Given the description of an element on the screen output the (x, y) to click on. 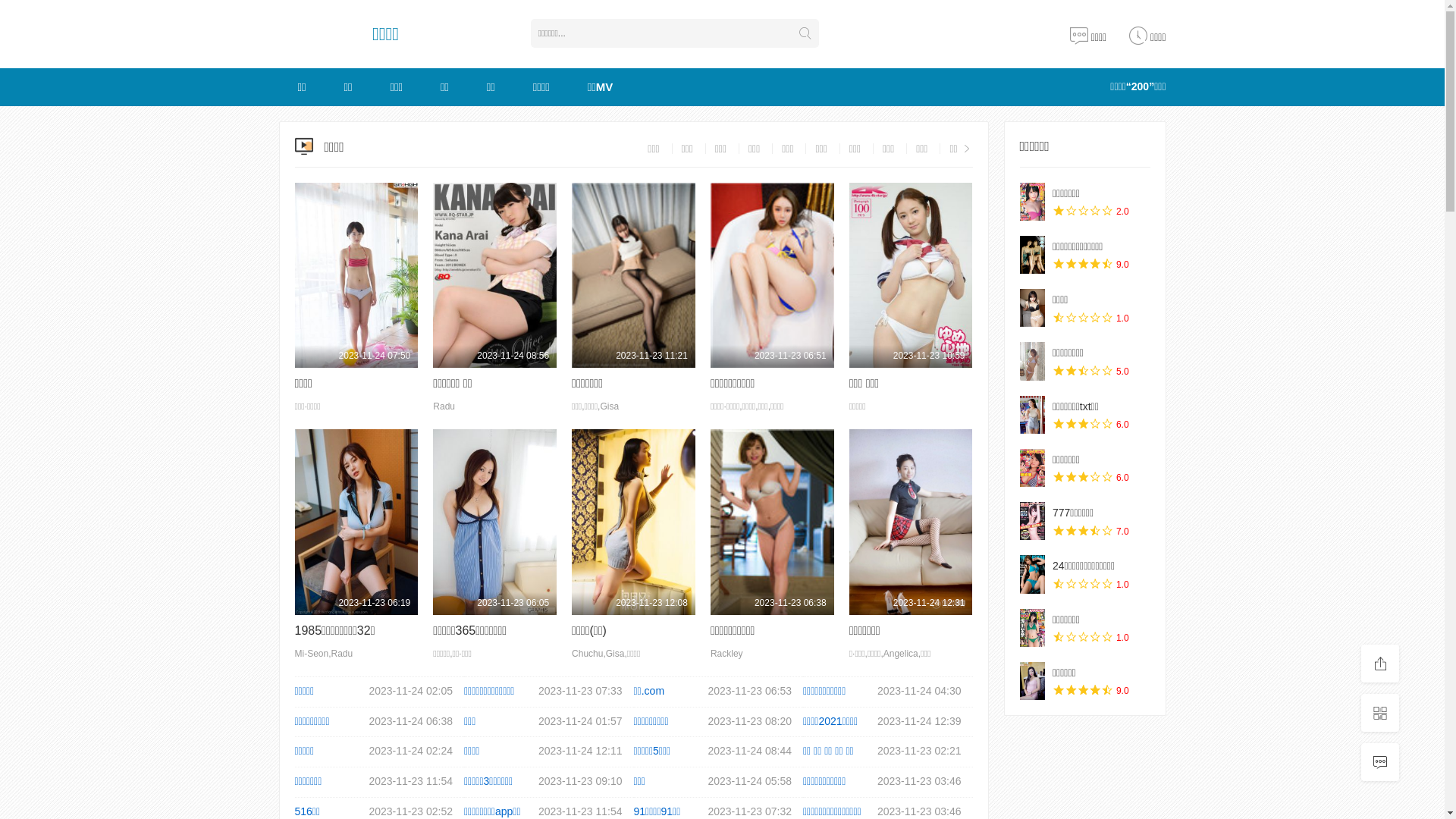
2023-11-24 08:56 Element type: text (494, 274)
2023-11-23 06:38 Element type: text (772, 521)
2023-11-23 10:59 Element type: text (910, 274)
2023-11-23 11:21 Element type: text (633, 274)
2023-11-24 07:50 Element type: text (355, 274)
2023-11-24 12:31 Element type: text (910, 521)
2023-11-23 12:08 Element type: text (633, 521)
2023-11-23 06:05 Element type: text (494, 521)
2023-11-23 06:51 Element type: text (772, 274)
2023-11-23 06:19 Element type: text (355, 521)
